Given the description of an element on the screen output the (x, y) to click on. 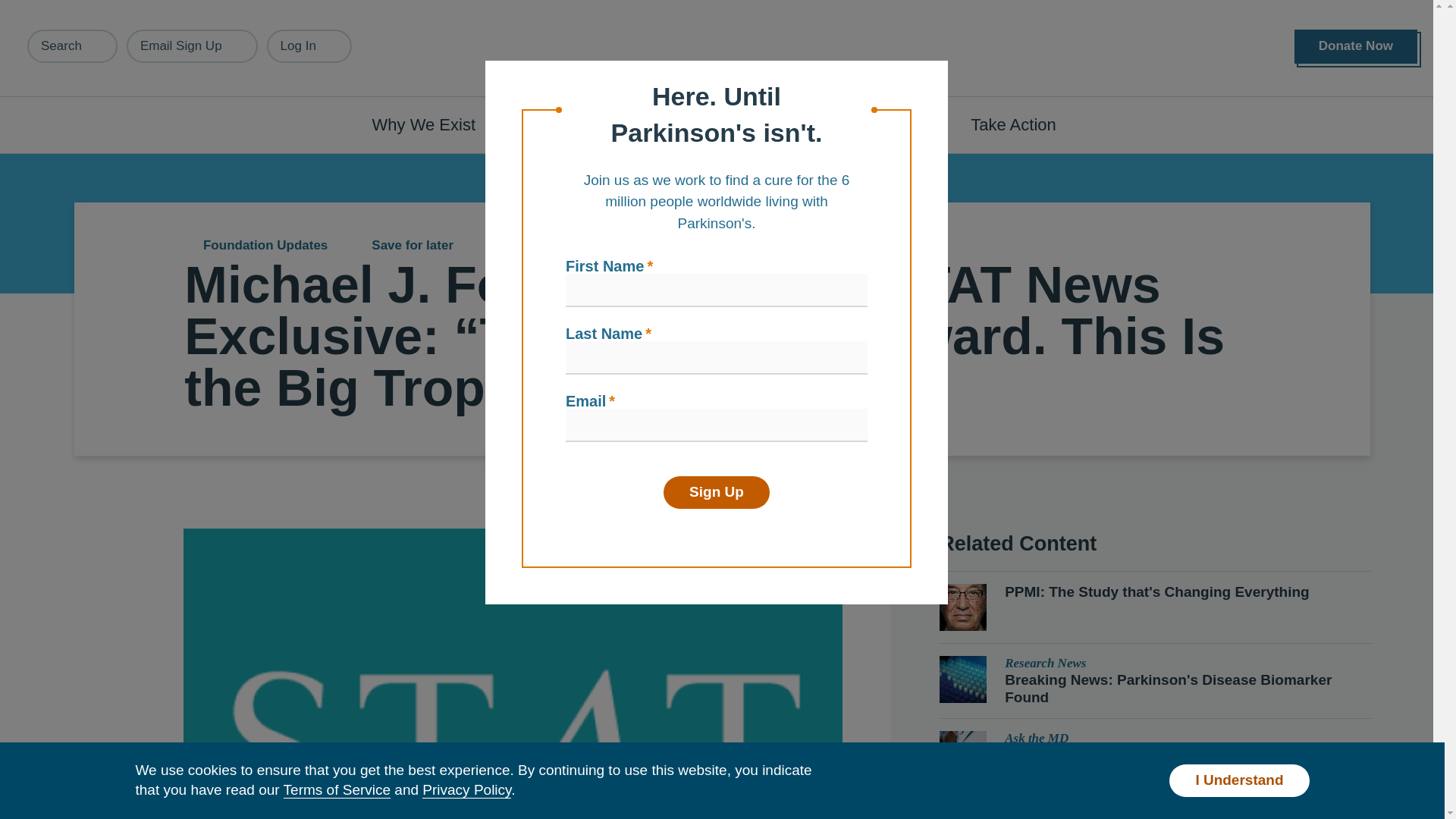
Donate Now (1355, 46)
Skip to main content (96, 7)
Home Page (722, 48)
Why We Exist (432, 125)
Understanding Parkinson's (640, 125)
Email Sign Up (191, 46)
Search (72, 46)
Log In (309, 46)
